Given the description of an element on the screen output the (x, y) to click on. 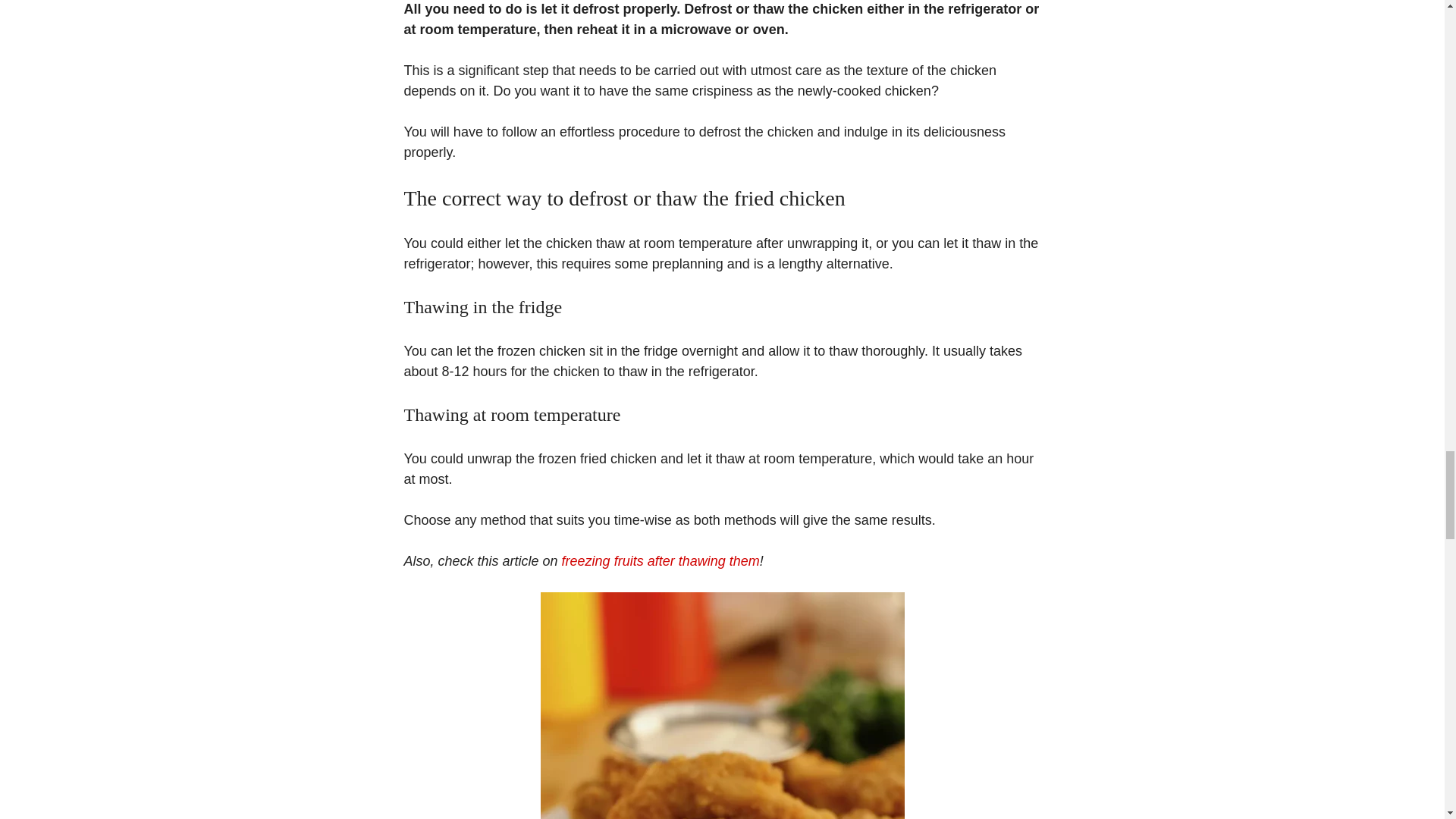
freezing fruits after thawing them (661, 560)
